Given the description of an element on the screen output the (x, y) to click on. 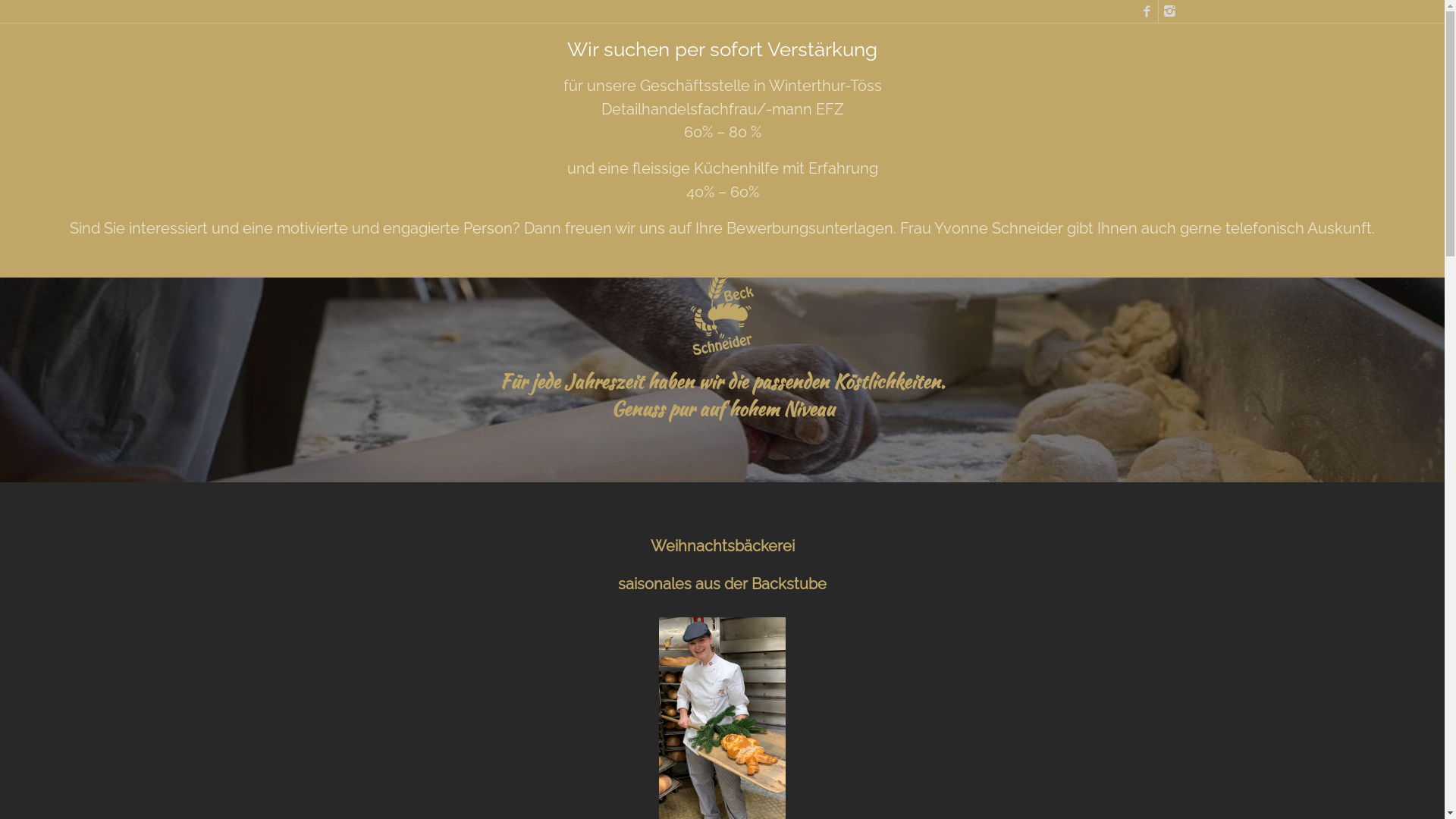
Facebook Element type: hover (1146, 11)
Instagram Element type: hover (1169, 11)
